Given the description of an element on the screen output the (x, y) to click on. 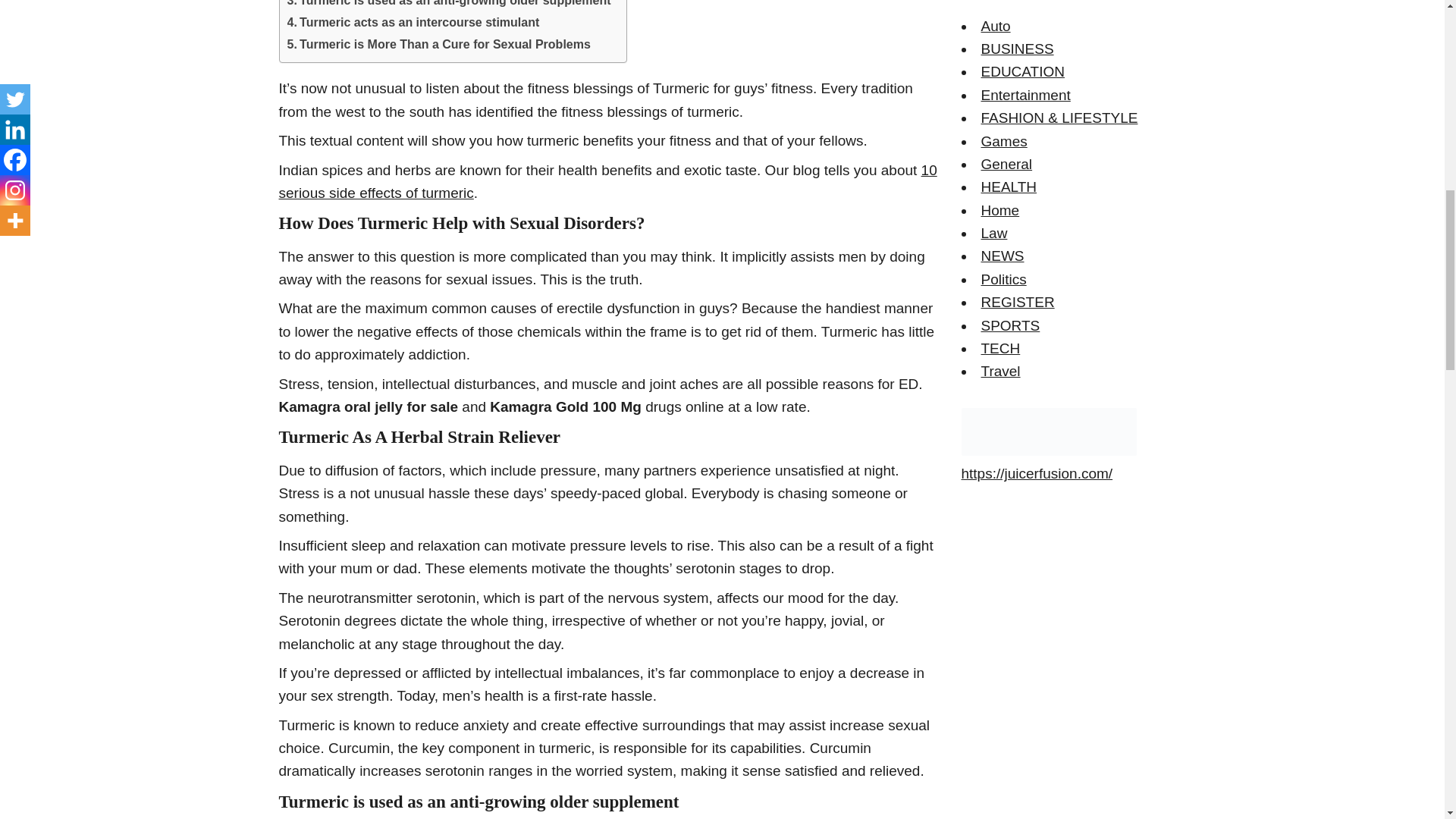
Turmeric is More Than a Cure for Sexual Problems (437, 44)
Turmeric is used as an anti-growing older supplement (448, 5)
10 serious side effects of turmeric (608, 181)
Turmeric acts as an intercourse stimulant (412, 22)
Turmeric is used as an anti-growing older supplement (448, 5)
Turmeric acts as an intercourse stimulant (412, 22)
Turmeric is More Than a Cure for Sexual Problems (437, 44)
